Given the description of an element on the screen output the (x, y) to click on. 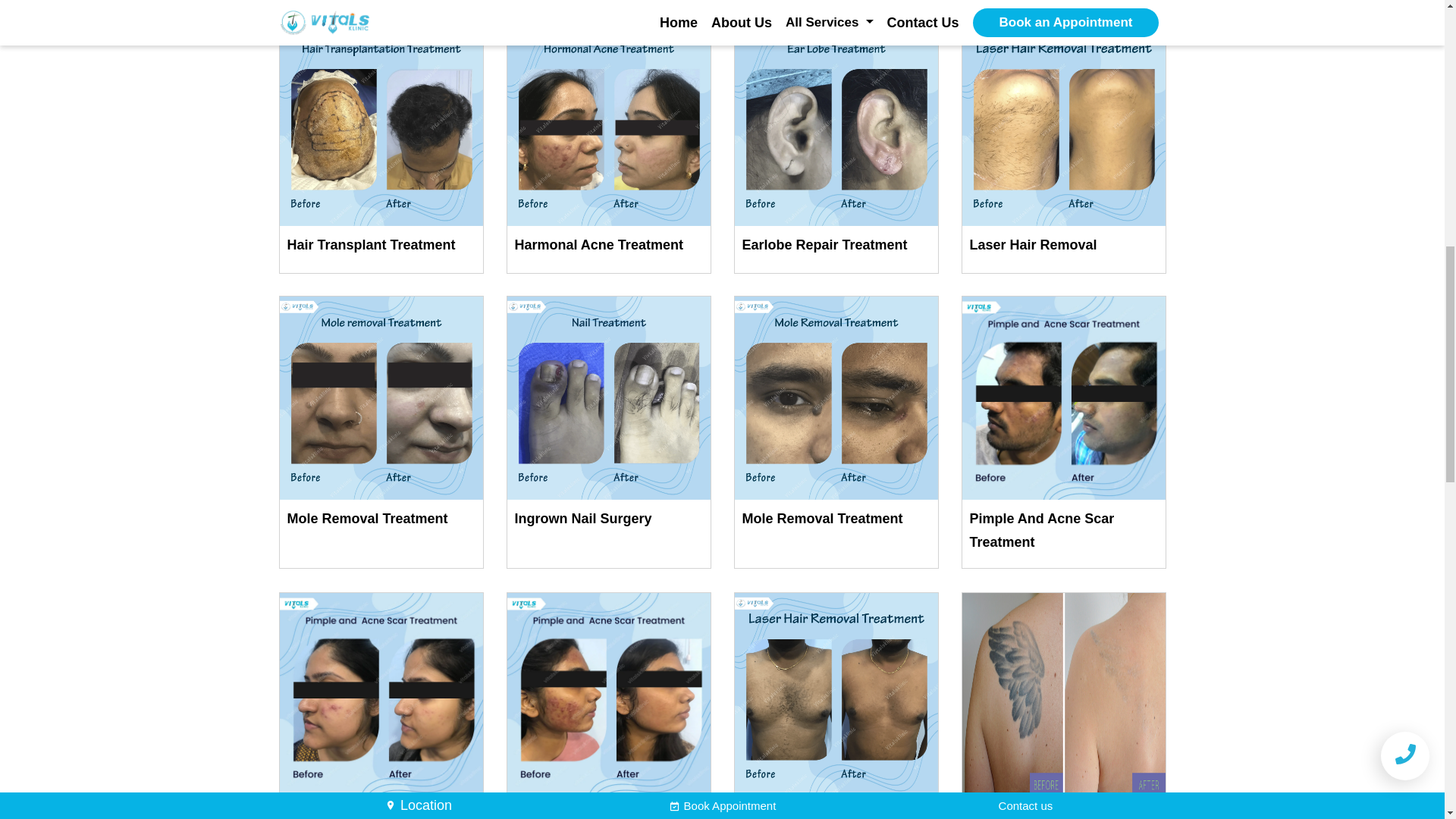
Pimple And Acne Scar Treatment (608, 705)
Laser Hair Removal (835, 705)
Pimple And Acne Scar Treatment (380, 705)
Tattoo Removal Treatment (1062, 705)
